Given the description of an element on the screen output the (x, y) to click on. 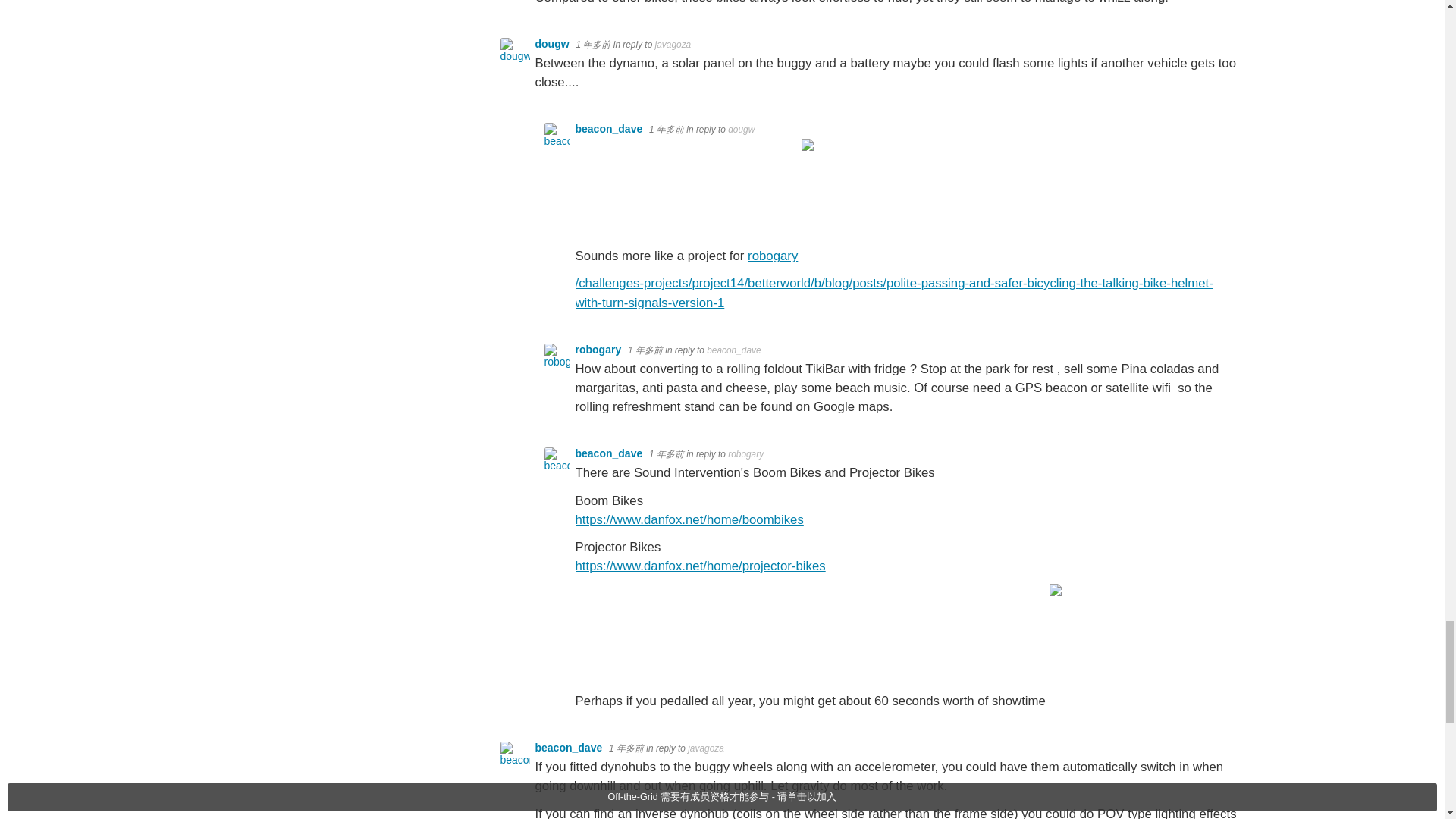
Slight smile (1056, 700)
Slight smile (809, 255)
